Given the description of an element on the screen output the (x, y) to click on. 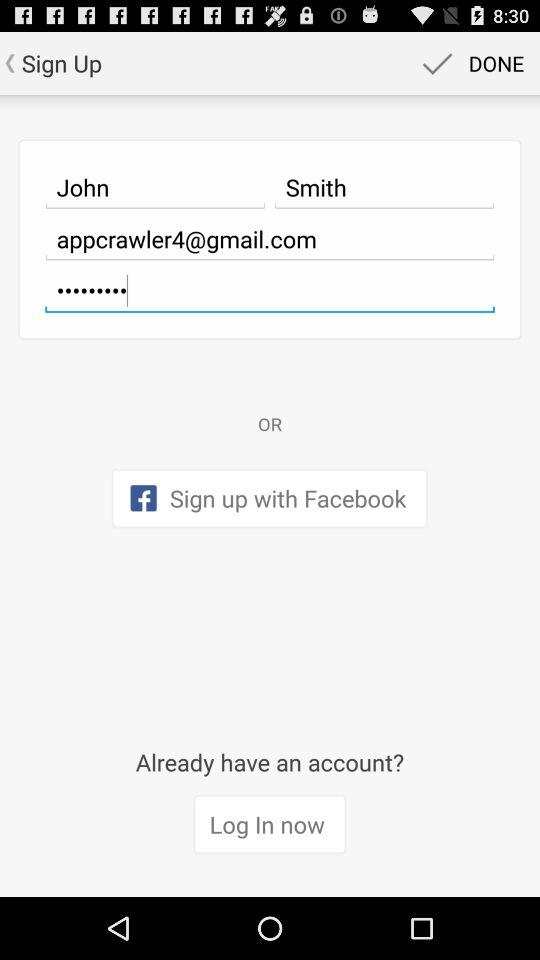
choose the icon to the right of john (384, 187)
